Given the description of an element on the screen output the (x, y) to click on. 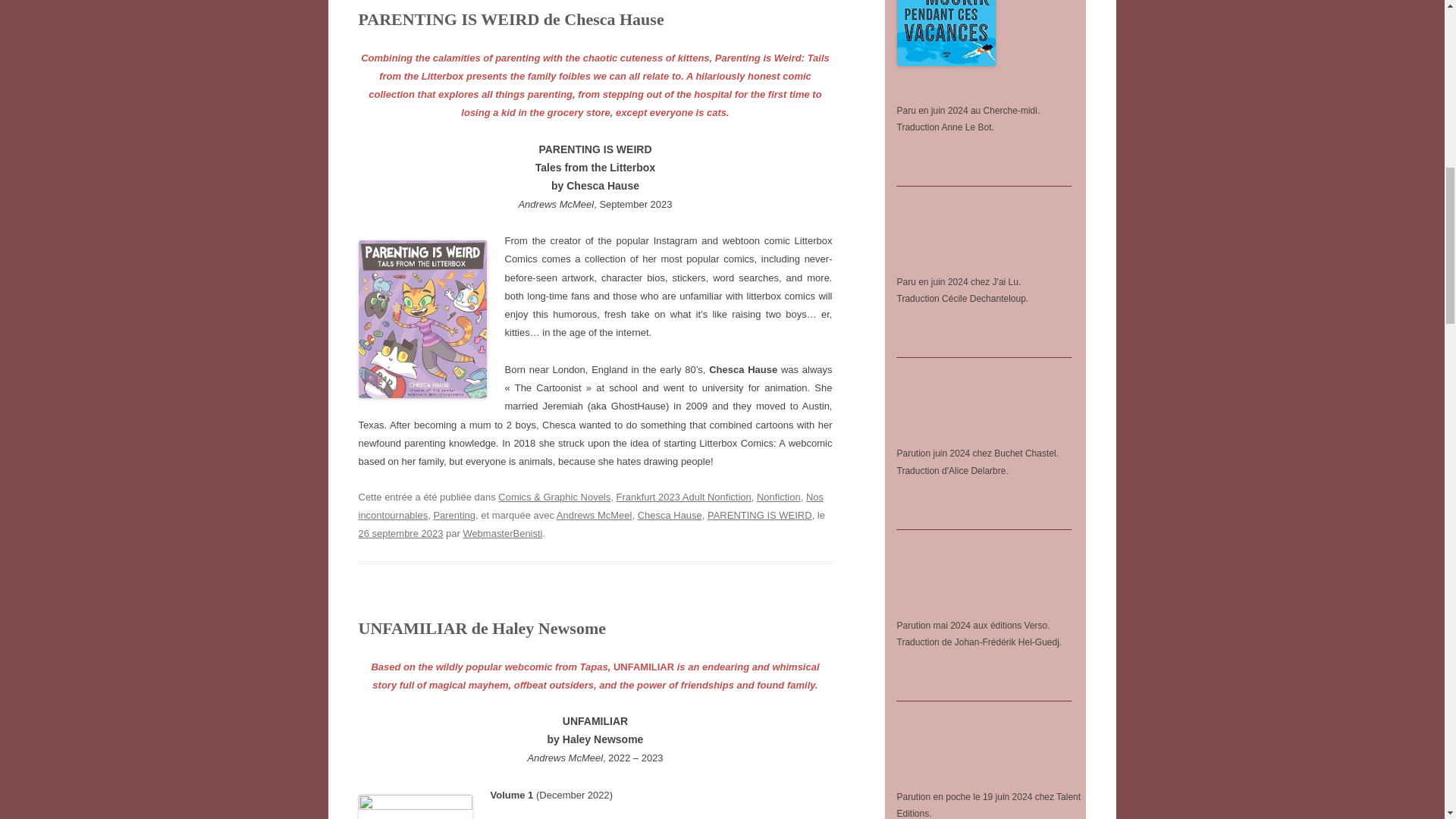
Frankfurt 2023 Adult Nonfiction (683, 496)
PARENTING IS WEIRD de Chesca Hause (510, 18)
Afficher tous les articles par WebmasterBenisti (502, 532)
Nonfiction (778, 496)
14:03 (400, 532)
Parenting (454, 514)
Nos incontournables (591, 505)
